Given the description of an element on the screen output the (x, y) to click on. 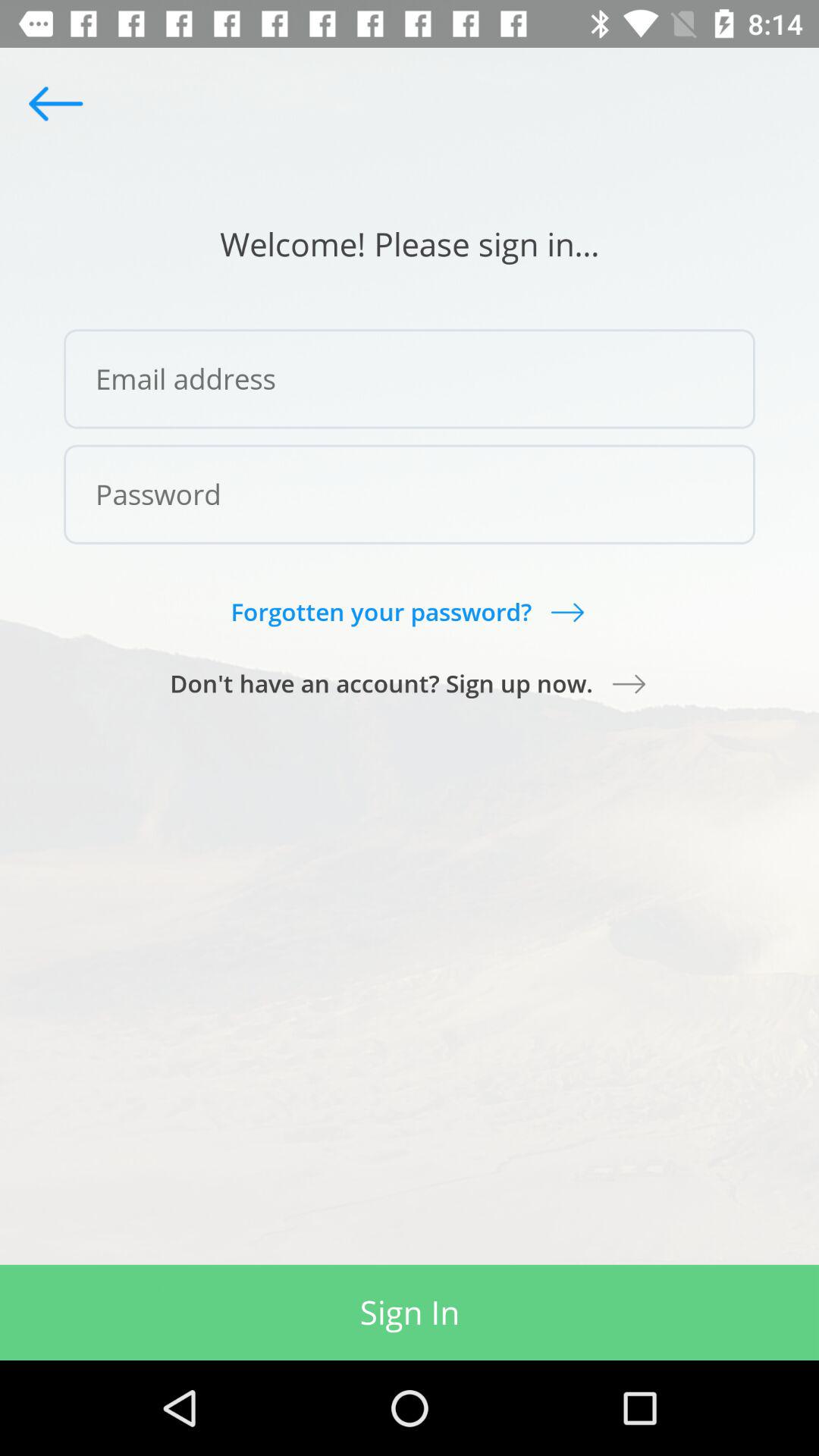
enter your password (409, 494)
